Given the description of an element on the screen output the (x, y) to click on. 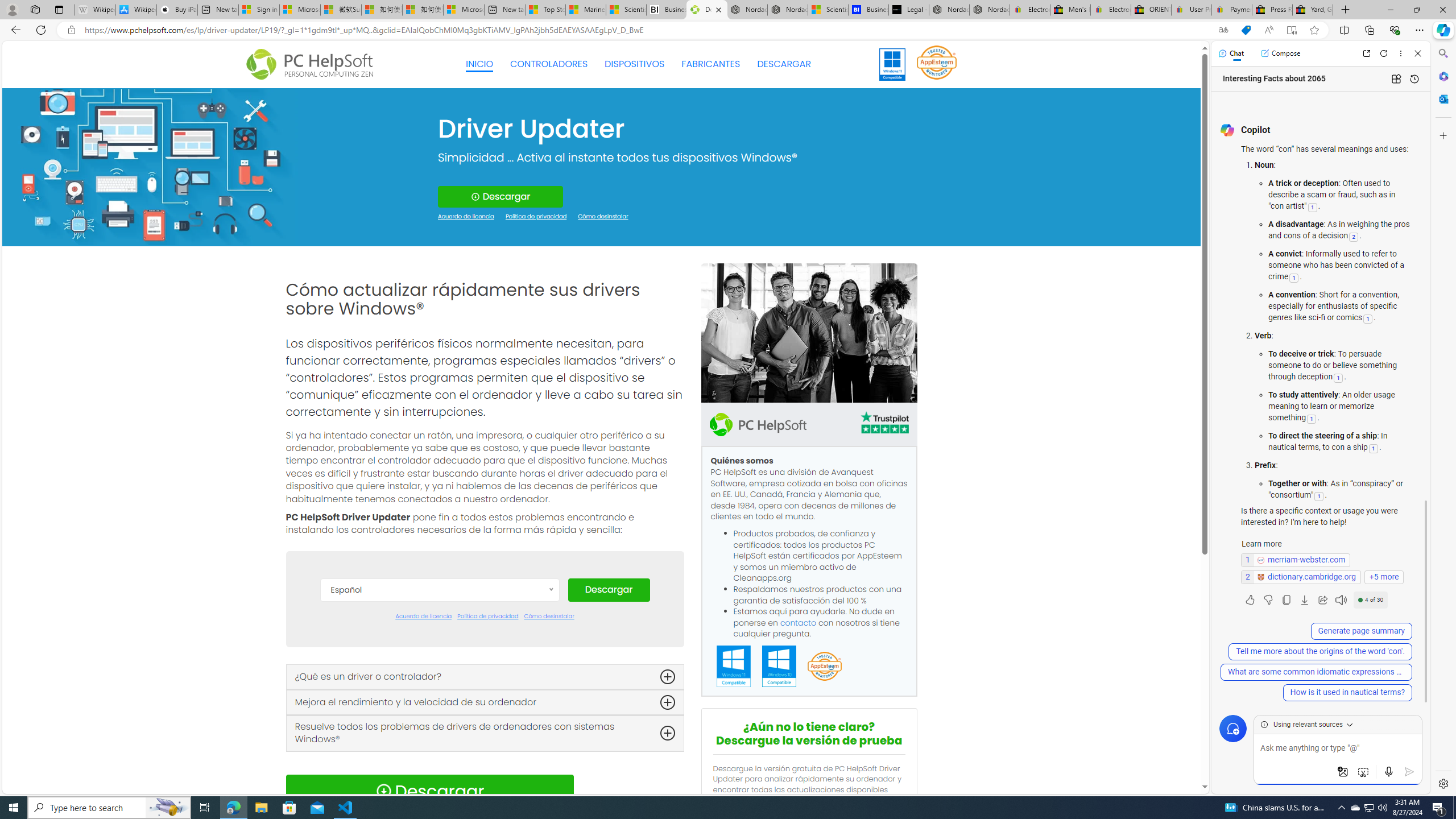
INICIO (479, 64)
FABRICANTES (711, 64)
User Privacy Notice | eBay (1191, 9)
Windows 11 (892, 64)
App Esteem (823, 666)
Windows 10 Compatible (778, 666)
Press Room - eBay Inc. (1272, 9)
CONTROLADORES (548, 64)
Wikipedia - Sleeping (94, 9)
